Given the description of an element on the screen output the (x, y) to click on. 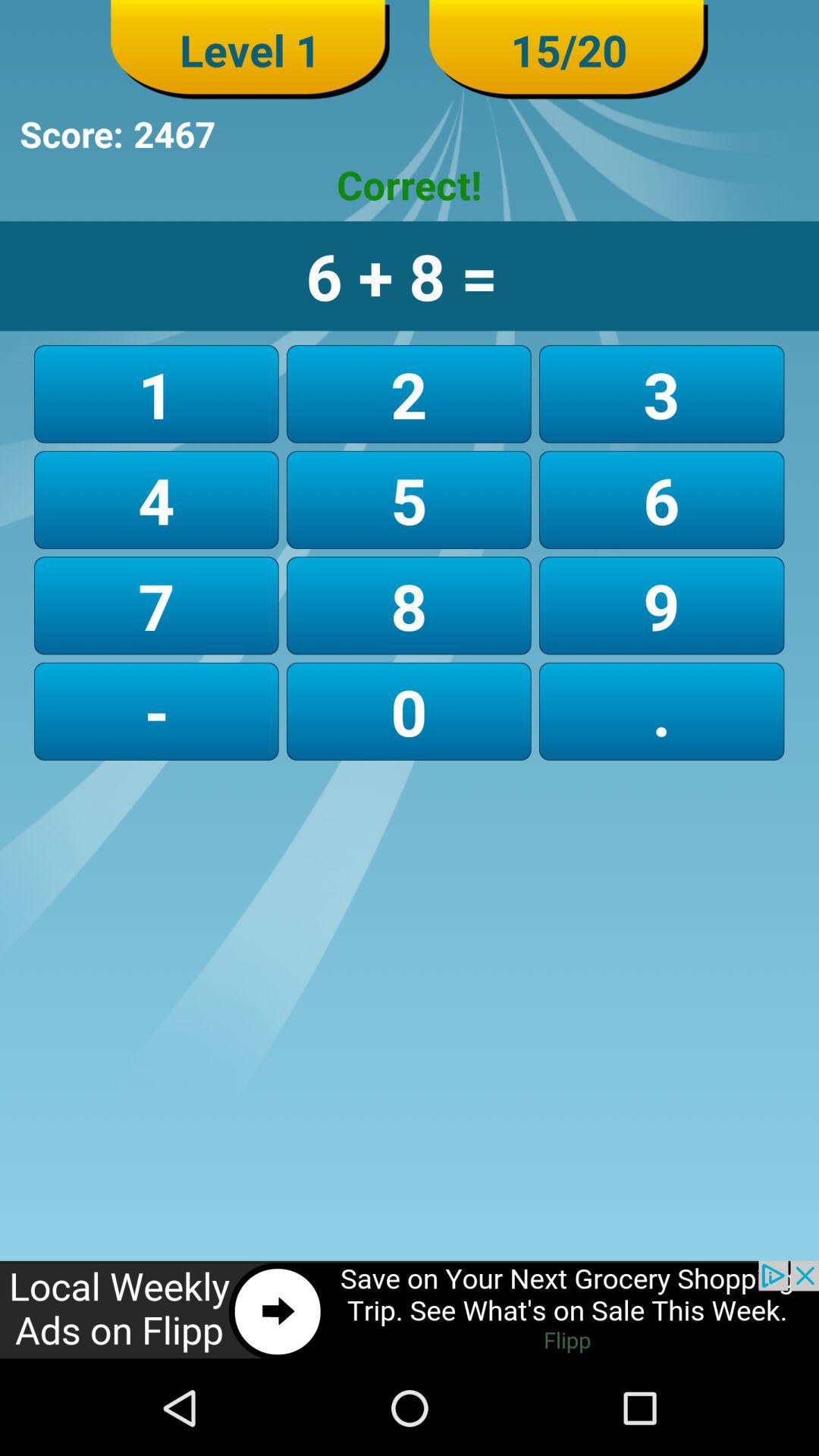
tap the 4 icon (156, 499)
